Given the description of an element on the screen output the (x, y) to click on. 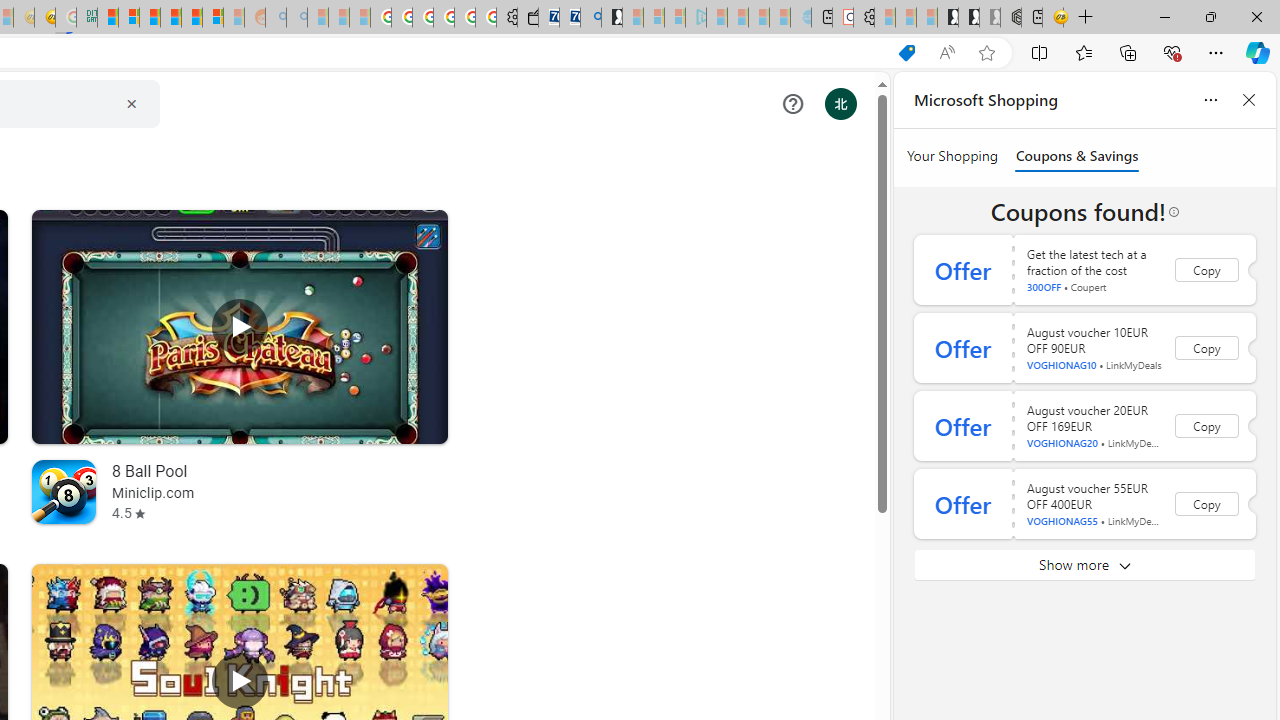
Read aloud this page (Ctrl+Shift+U) (946, 53)
Favorites (1083, 52)
Expert Portfolios (170, 17)
Home | Sky Blue Bikes - Sky Blue Bikes - Sleeping (801, 17)
Microsoft account | Privacy - Sleeping (674, 17)
Nordace - Nordace Siena Is Not An Ordinary Backpack (1011, 17)
Copilot (Ctrl+Shift+.) (1258, 52)
